Given the description of an element on the screen output the (x, y) to click on. 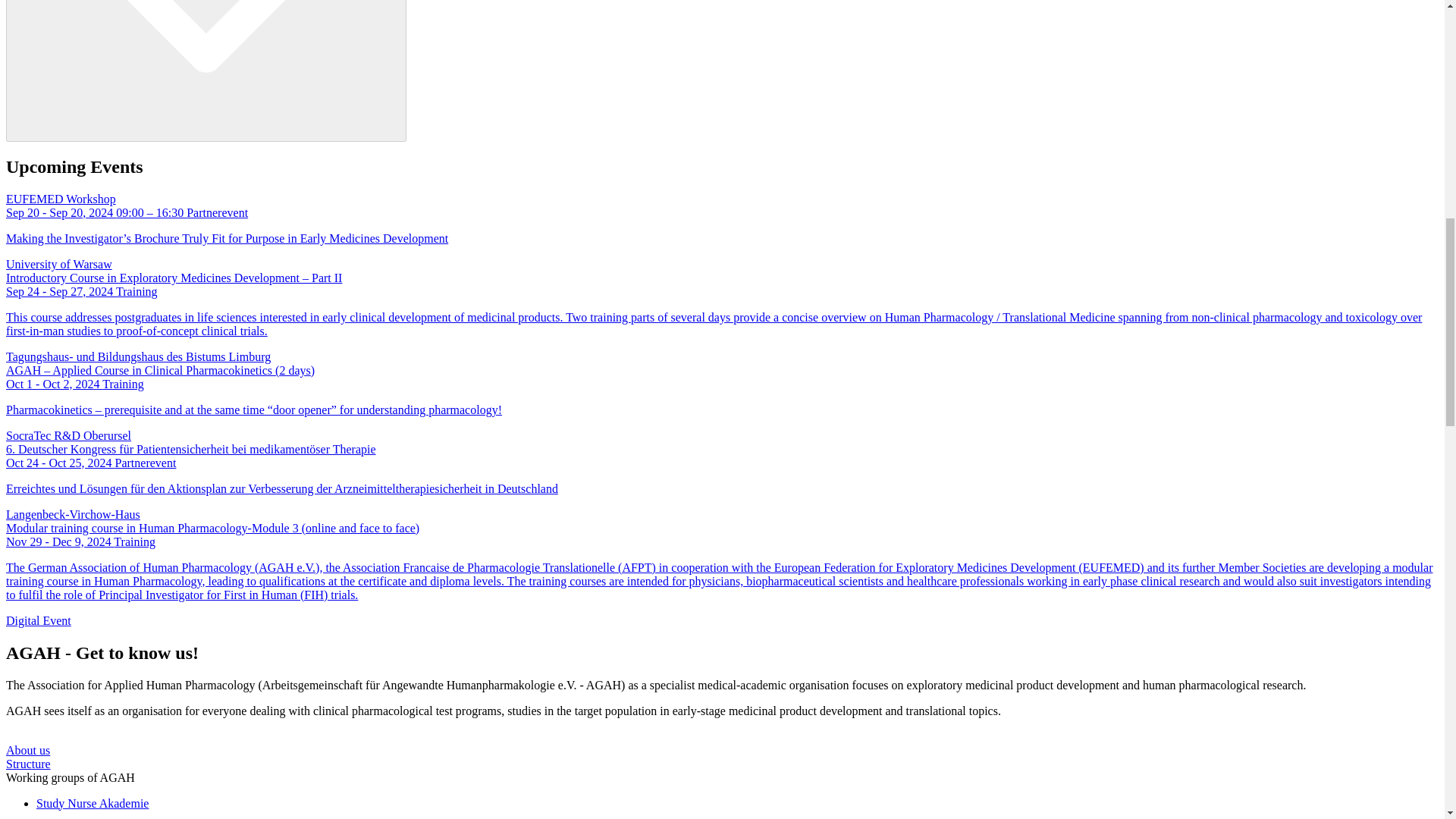
About us (27, 748)
Study Nurse Akademie (92, 802)
About us (27, 748)
Structure (27, 762)
Structure (27, 762)
